Given the description of an element on the screen output the (x, y) to click on. 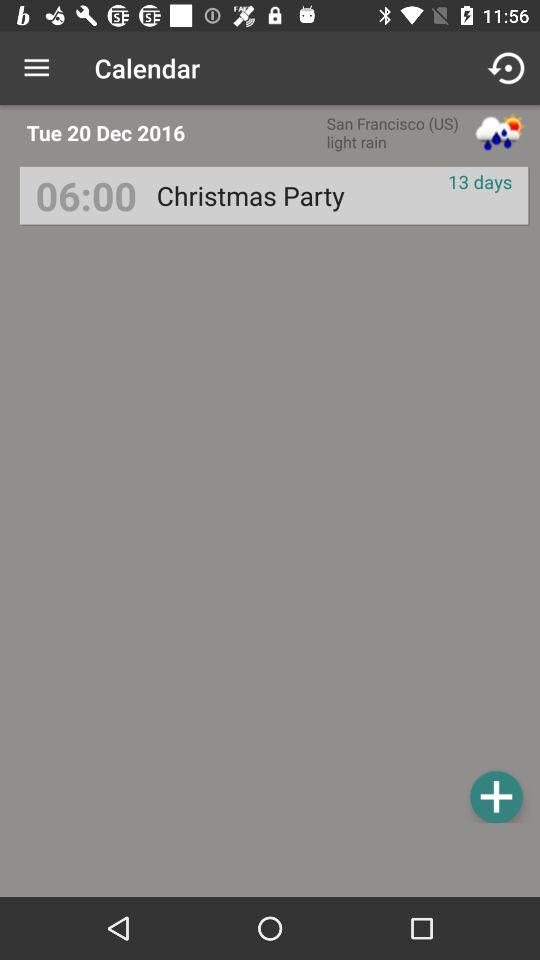
add new event (496, 796)
